Given the description of an element on the screen output the (x, y) to click on. 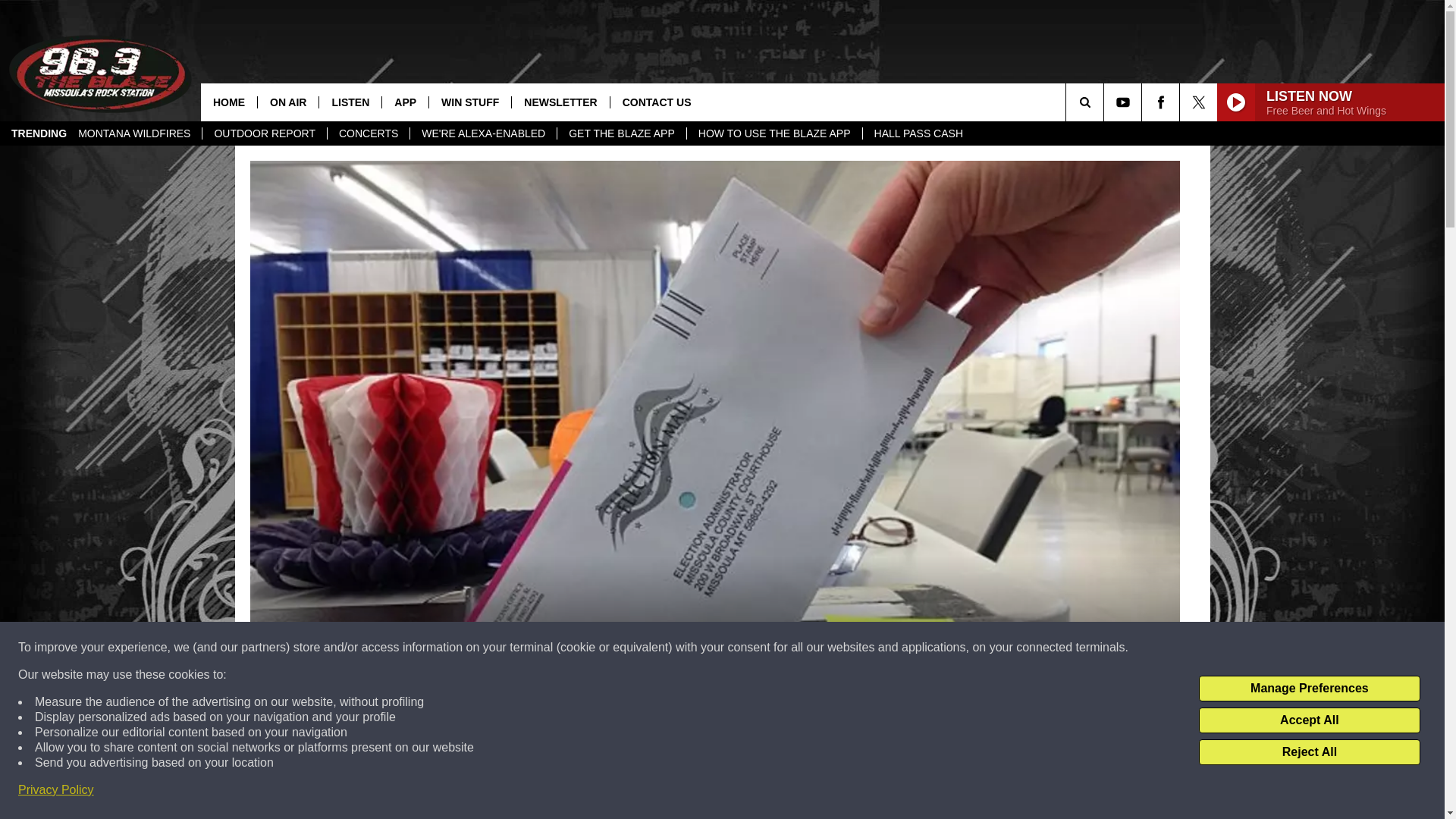
Accept All (1309, 720)
WIN STUFF (469, 102)
HALL PASS CASH (918, 133)
OUTDOOR REPORT (264, 133)
Share on Facebook (517, 791)
HOW TO USE THE BLAZE APP (773, 133)
APP (404, 102)
CONCERTS (367, 133)
Share on Twitter (912, 791)
ON AIR (287, 102)
CONTACT US (656, 102)
NEWSLETTER (559, 102)
GET THE BLAZE APP (620, 133)
Reject All (1309, 751)
HOME (228, 102)
